Given the description of an element on the screen output the (x, y) to click on. 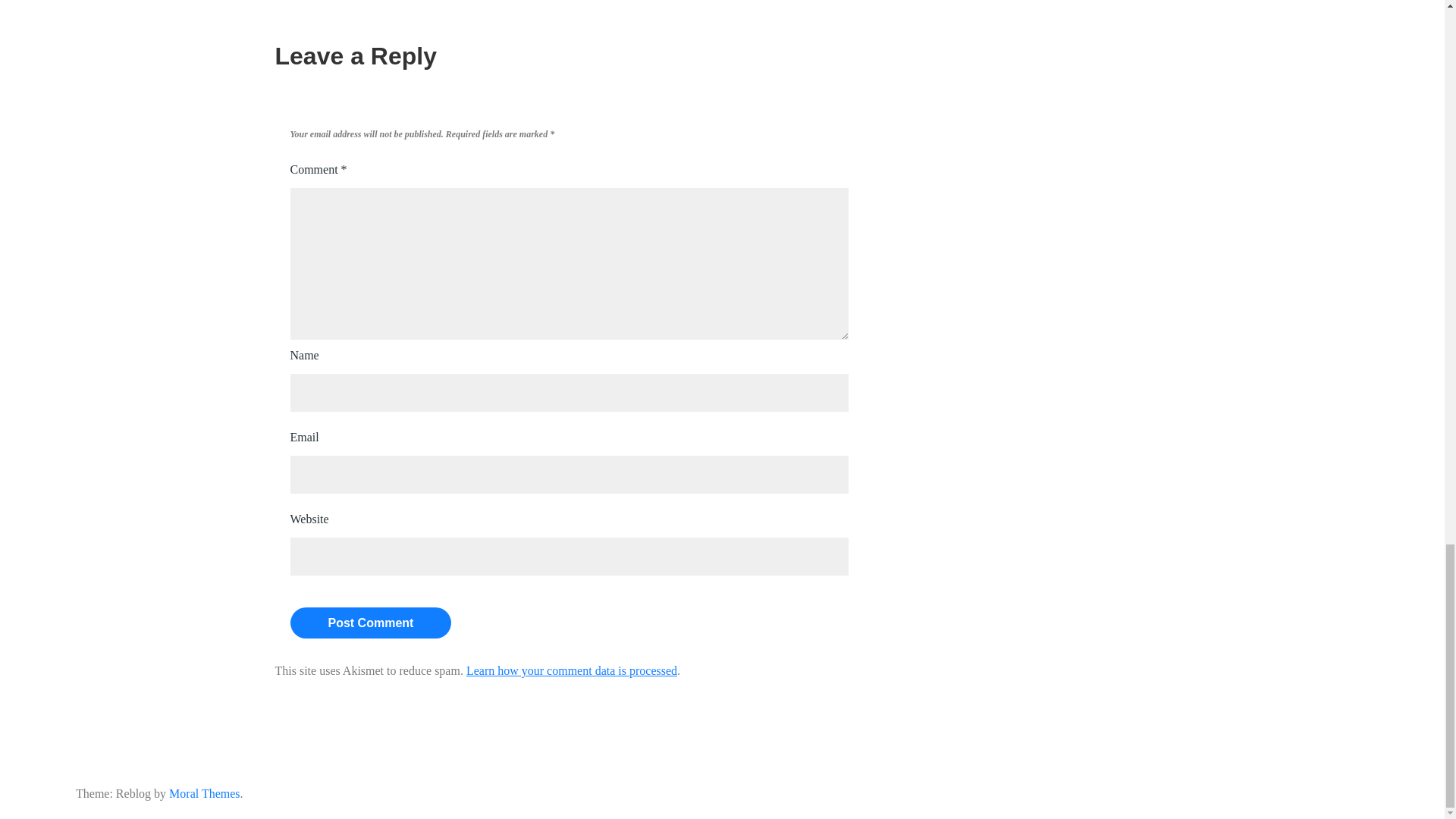
Post Comment (370, 622)
Learn how your comment data is processed (571, 670)
Post Comment (370, 622)
